Given the description of an element on the screen output the (x, y) to click on. 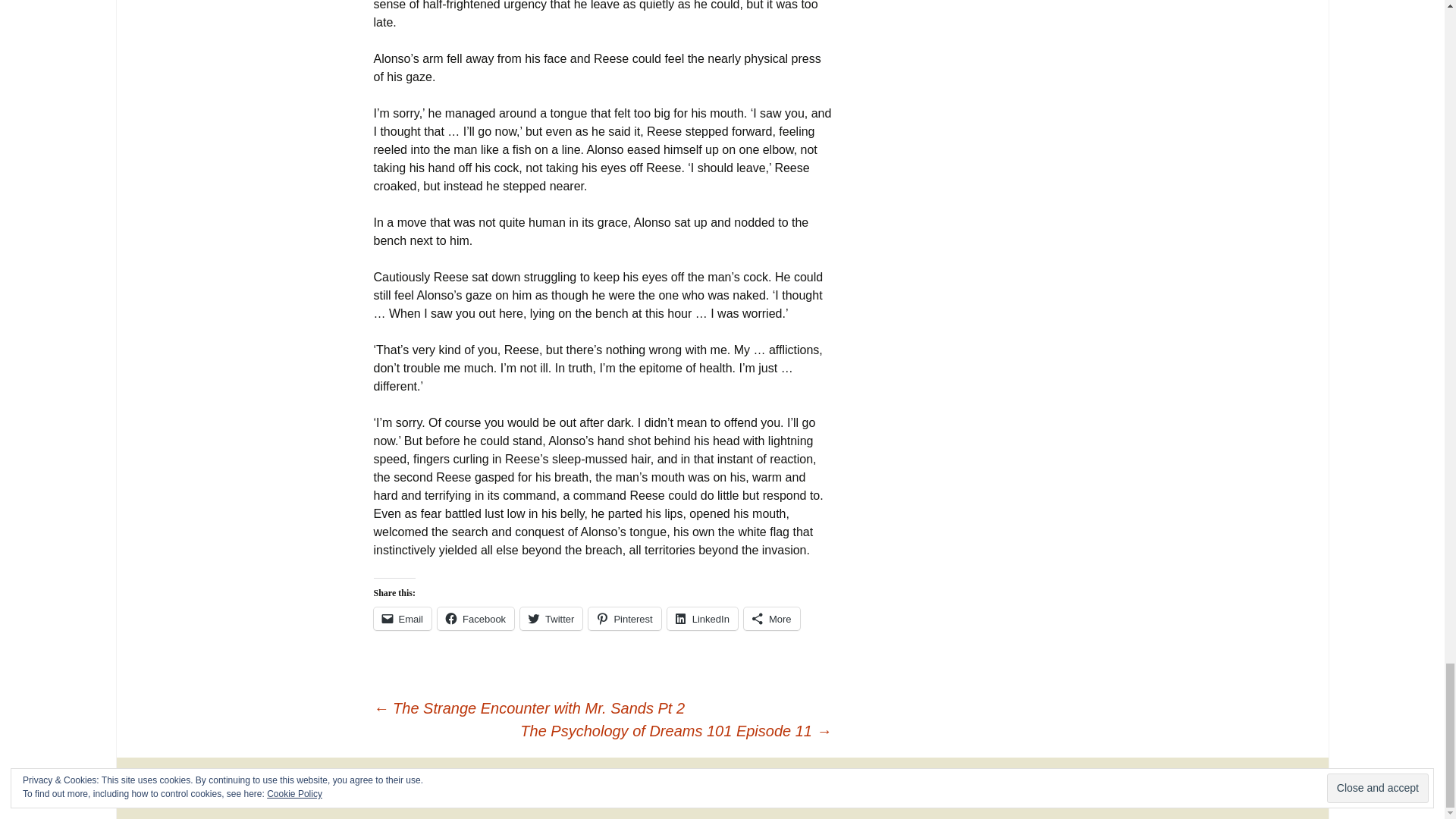
Click to share on LinkedIn (702, 618)
Click to email a link to a friend (401, 618)
Facebook (475, 618)
Twitter (550, 618)
Pinterest (624, 618)
Click to share on Twitter (550, 618)
Click to share on Facebook (475, 618)
Click to share on Pinterest (624, 618)
LinkedIn (702, 618)
More (771, 618)
